Given the description of an element on the screen output the (x, y) to click on. 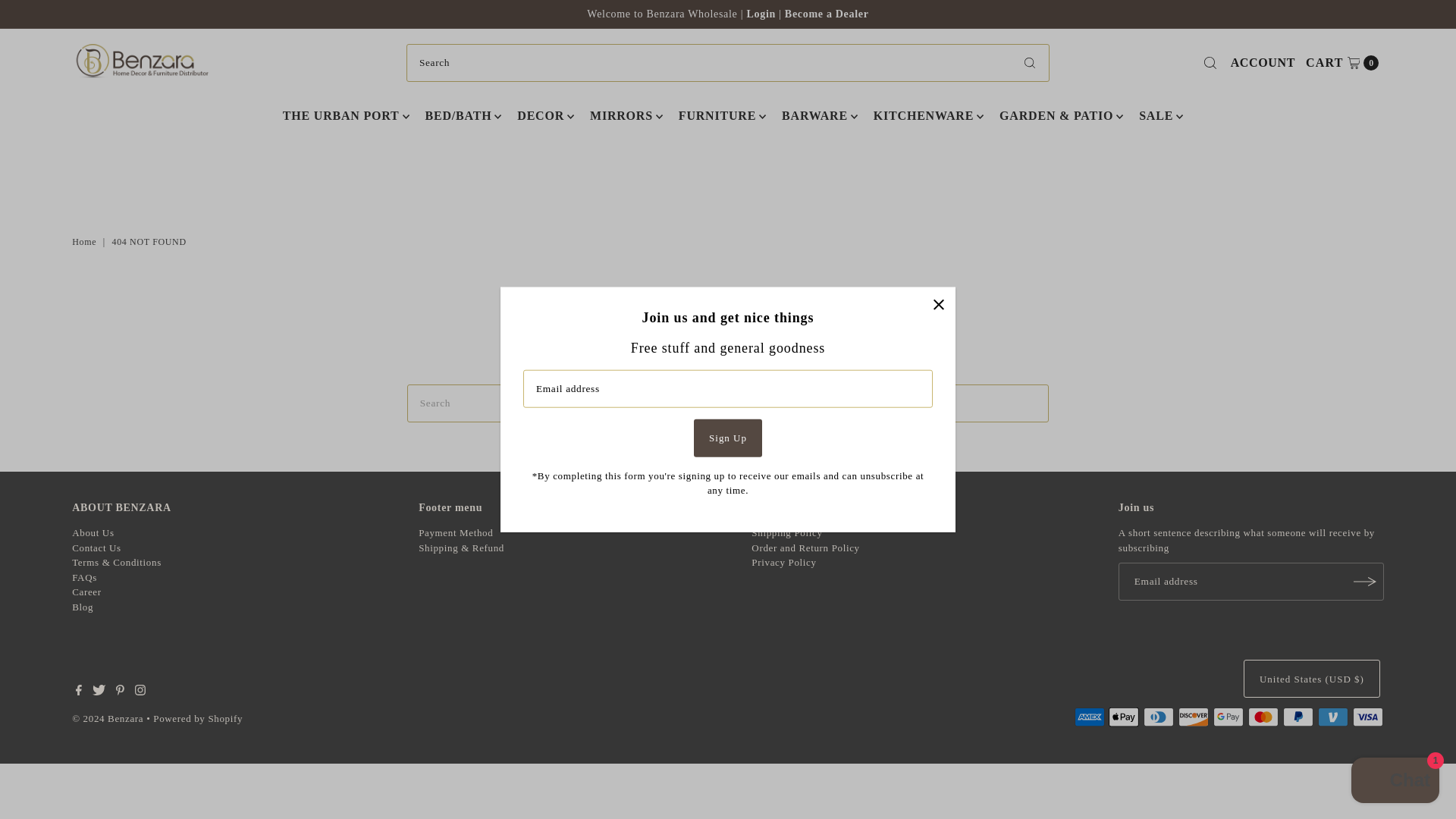
THE URBAN PORT (340, 116)
Become a Dealer (826, 13)
Home (85, 241)
Apple Pay (1123, 716)
Diners Club (1341, 62)
ACCOUNT (1157, 716)
Sign Up (1262, 62)
Login (727, 437)
American Express (761, 13)
